Given the description of an element on the screen output the (x, y) to click on. 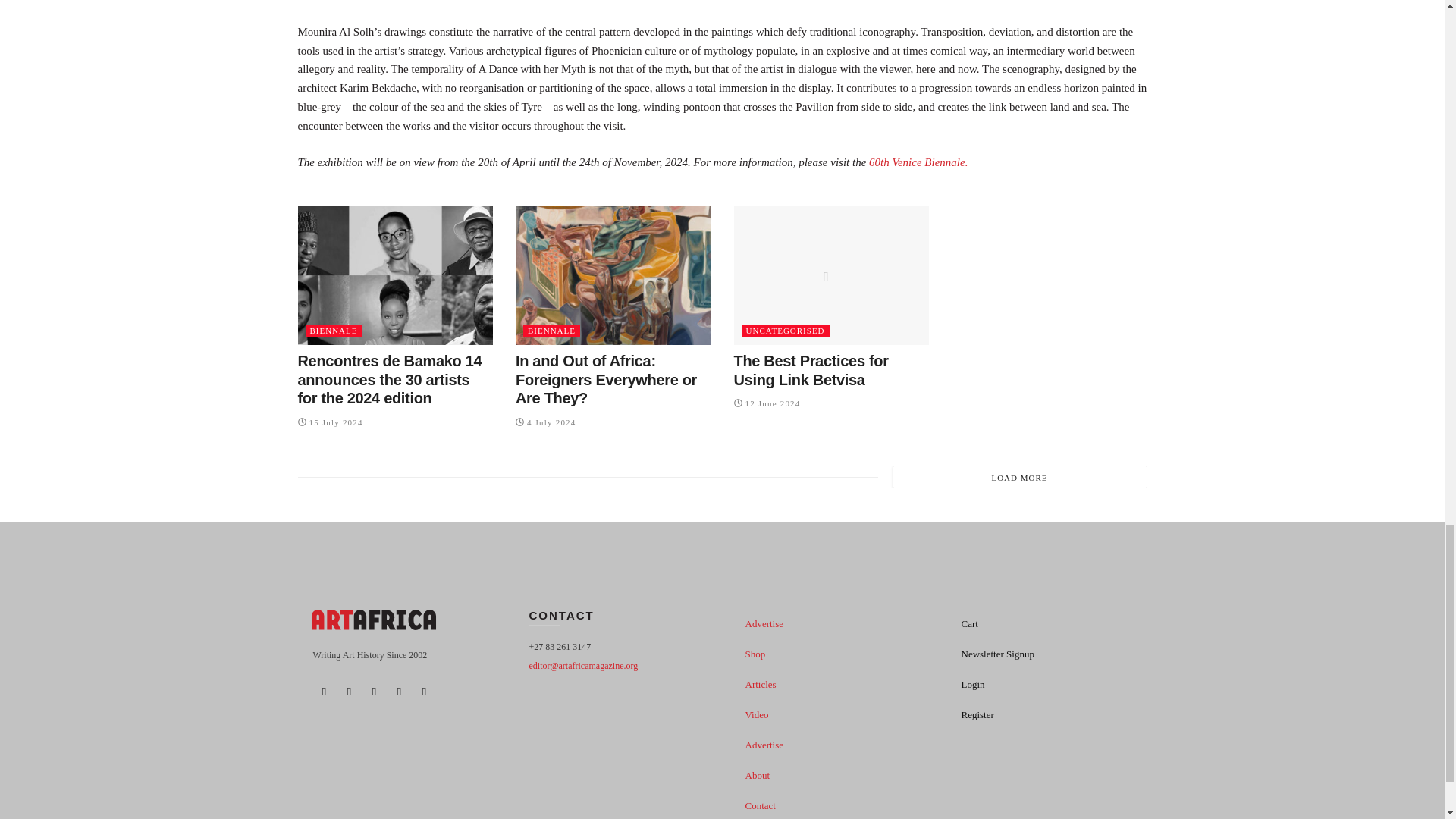
In and Out of Africa: Foreigners Everywhere or Are They? (606, 379)
15 July 2024 (329, 420)
The Best Practices for Using Link Betvisa (810, 369)
UNCATEGORISED (785, 330)
BIENNALE (332, 330)
LOAD MORE (1019, 477)
Icon-facebook (323, 691)
BIENNALE (550, 330)
12 June 2024 (766, 402)
60th Venice Biennale. (918, 162)
4 July 2024 (545, 420)
